Given the description of an element on the screen output the (x, y) to click on. 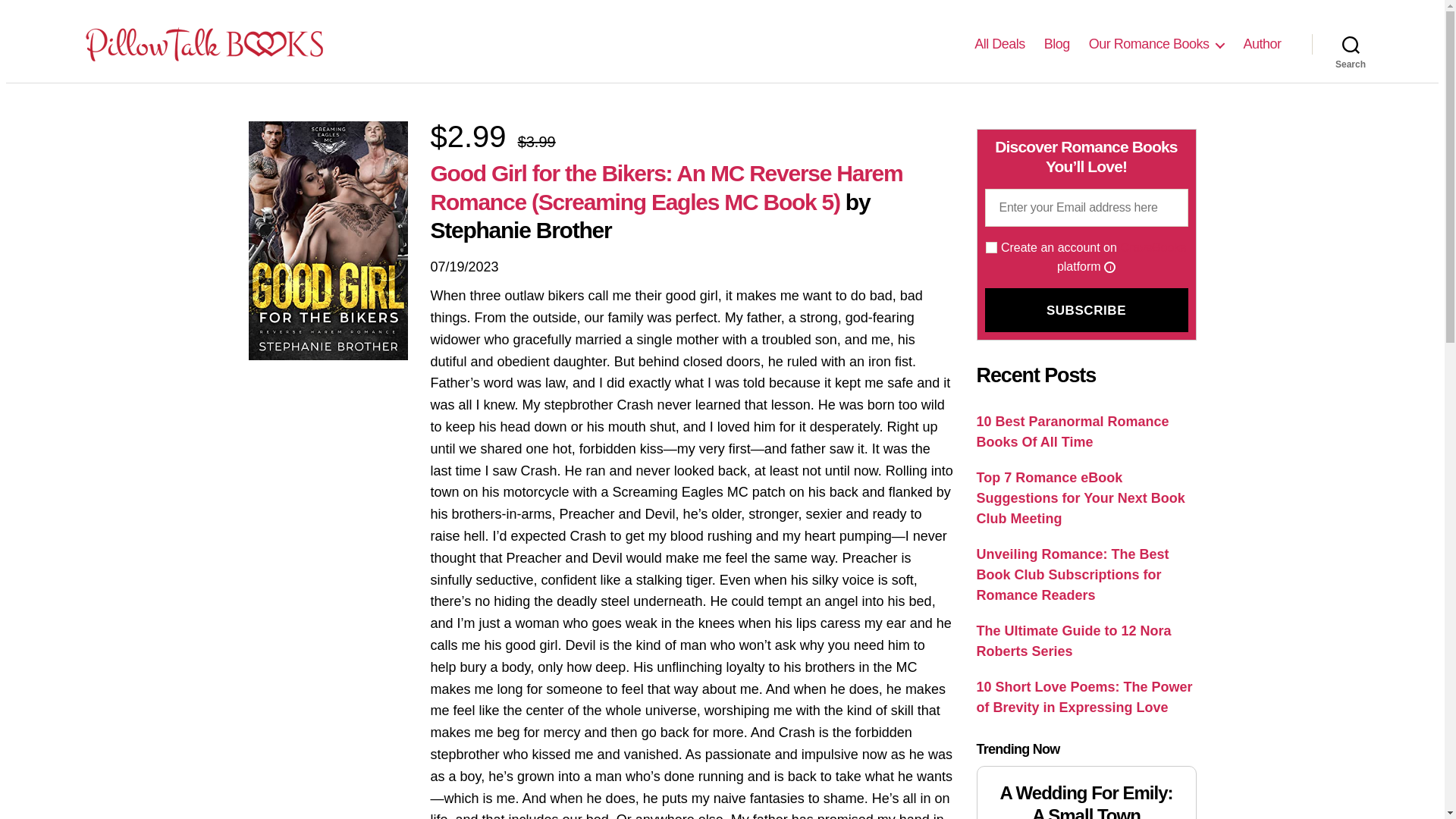
Our Romance Books (1156, 44)
Search (1350, 43)
Subscribe (1086, 310)
Author (1262, 44)
All Deals (999, 44)
true (991, 247)
Blog (1056, 44)
